Given the description of an element on the screen output the (x, y) to click on. 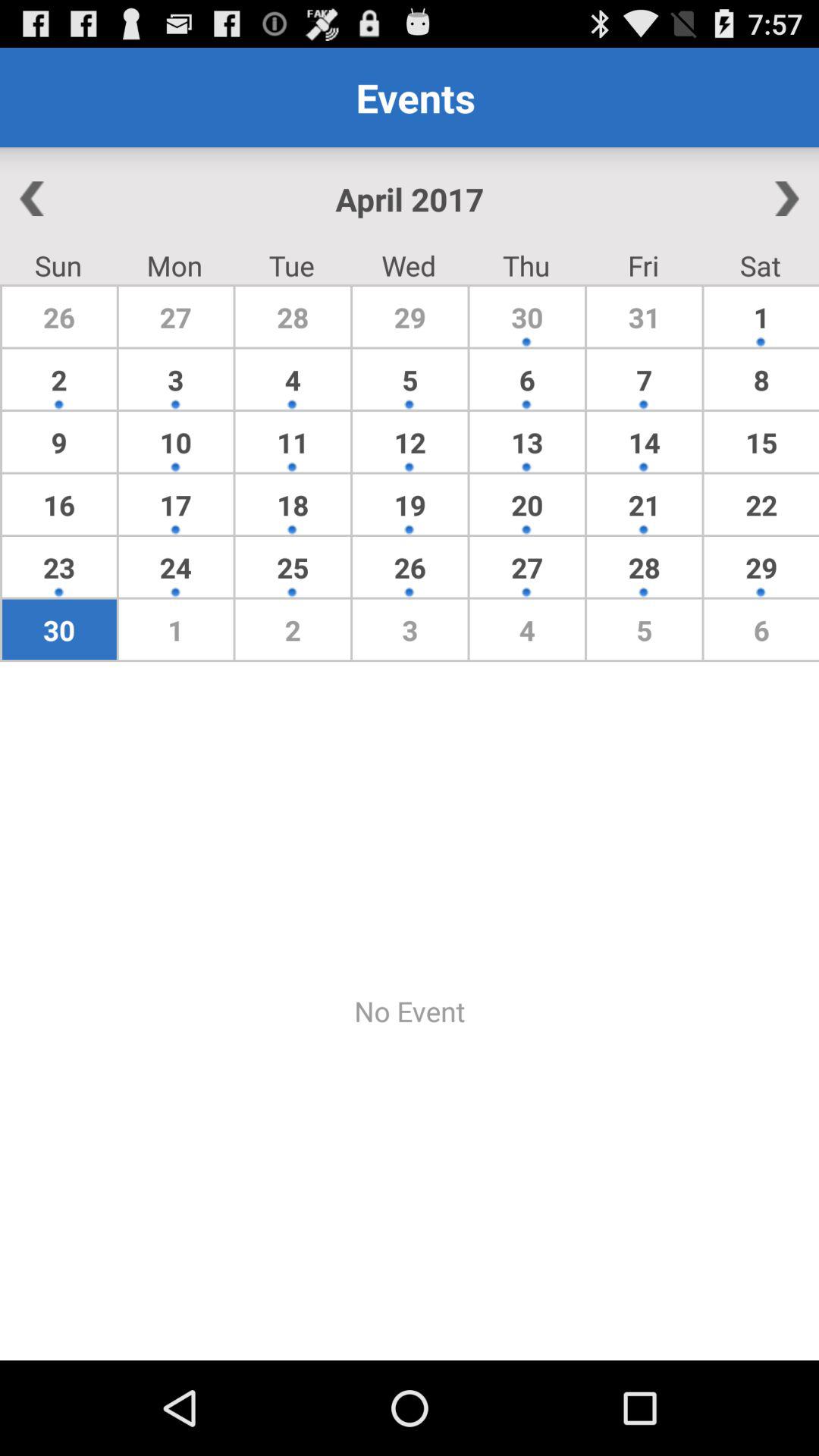
choose the app to the right of 30 item (643, 379)
